Given the description of an element on the screen output the (x, y) to click on. 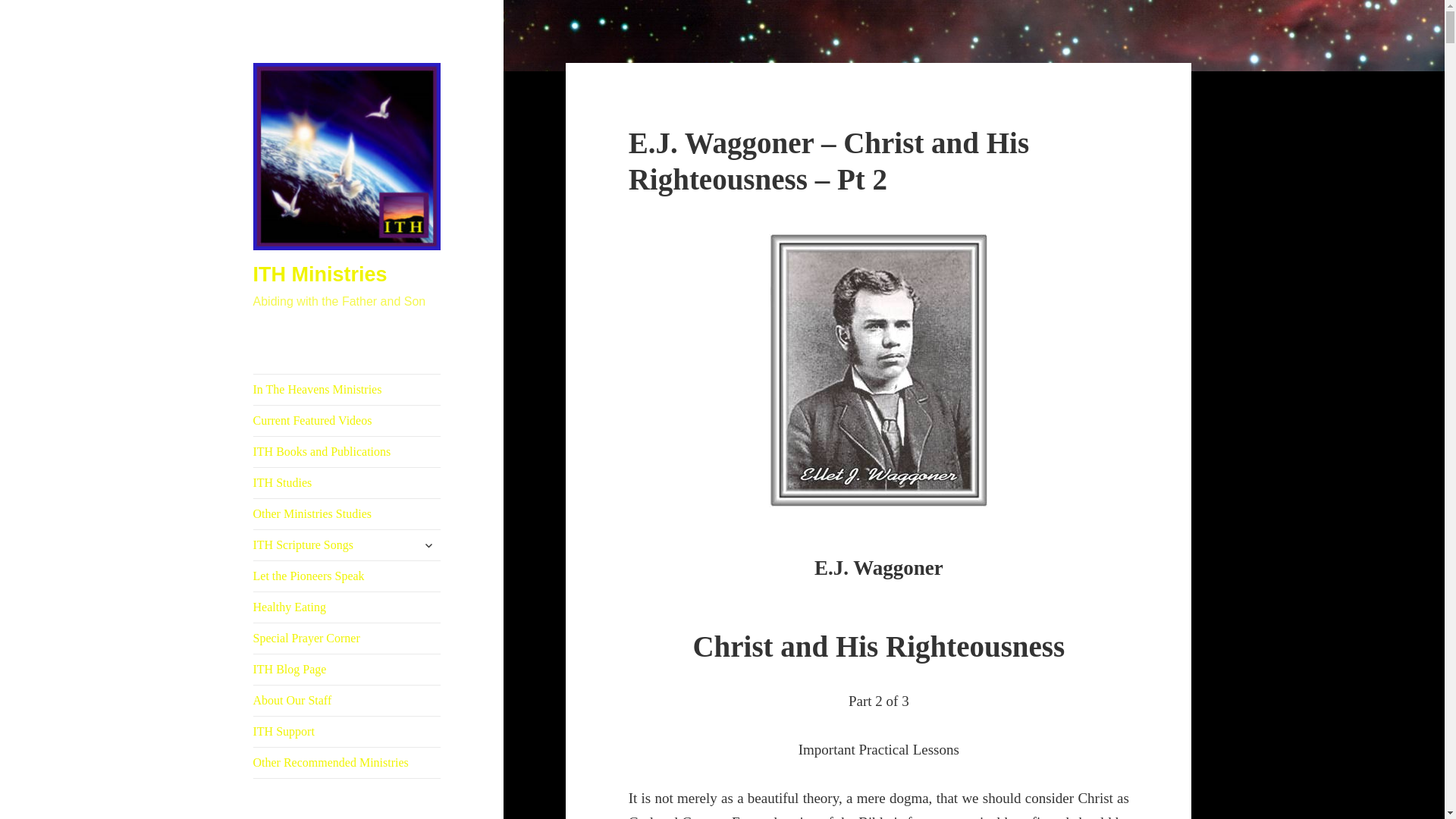
ITH Ministries (320, 273)
ITH Scripture Songs (347, 544)
Let the Pioneers Speak (347, 576)
In The Heavens Ministries (347, 389)
ITH Support (347, 731)
Other Ministries Studies (347, 513)
Healthy Eating (347, 607)
ITH Blog Page (347, 669)
Other Recommended Ministries (347, 762)
ITH Books and Publications (347, 451)
